Given the description of an element on the screen output the (x, y) to click on. 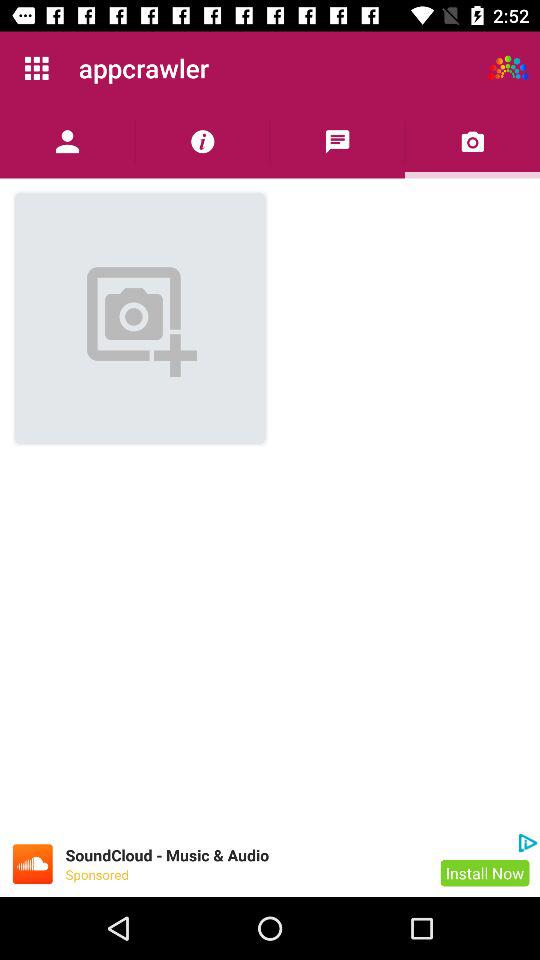
list comments (337, 141)
